Given the description of an element on the screen output the (x, y) to click on. 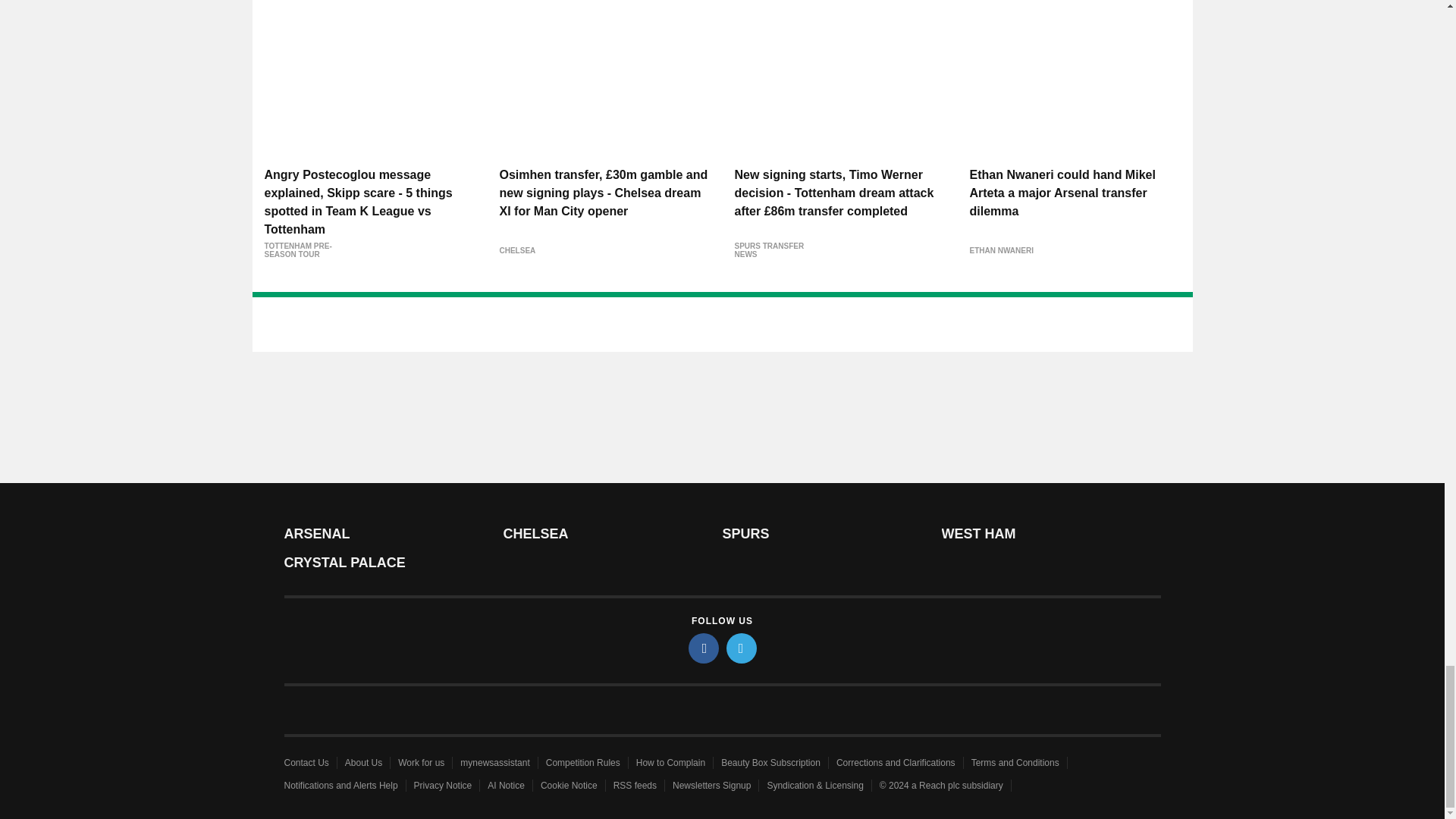
facebook (703, 648)
twitter (741, 648)
